Given the description of an element on the screen output the (x, y) to click on. 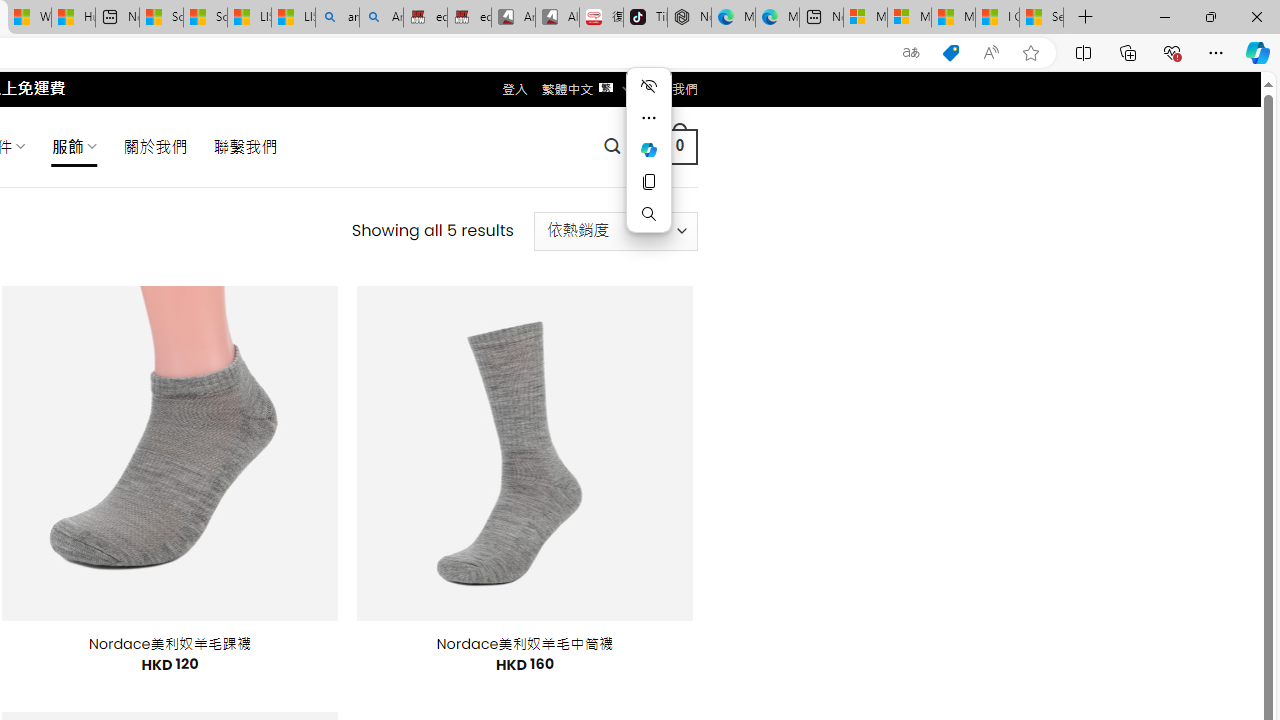
Restore (1210, 16)
Copilot (Ctrl+Shift+.) (1258, 52)
Amazon Echo Dot PNG - Search Images (381, 17)
Read aloud this page (Ctrl+Shift+U) (991, 53)
Microsoft Start (953, 17)
All Cubot phones (557, 17)
  0   (679, 146)
New Tab (1085, 17)
Copy (648, 182)
